Given the description of an element on the screen output the (x, y) to click on. 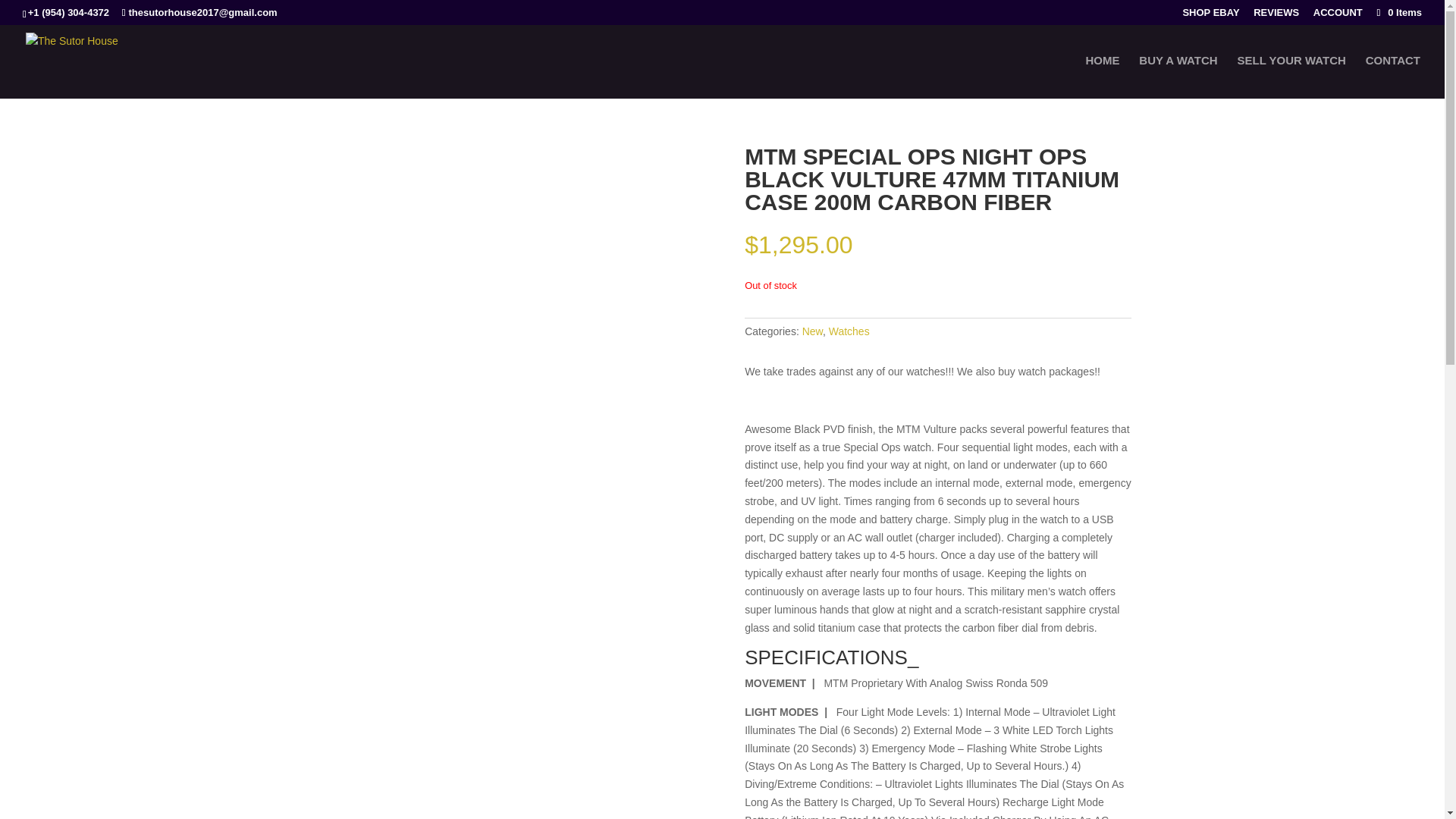
SELL YOUR WATCH (1291, 76)
SHOP EBAY (1210, 16)
Watches (848, 331)
ACCOUNT (1337, 16)
New (812, 331)
CONTACT (1393, 76)
REVIEWS (1275, 16)
BUY A WATCH (1177, 76)
0 Items (1398, 12)
